Given the description of an element on the screen output the (x, y) to click on. 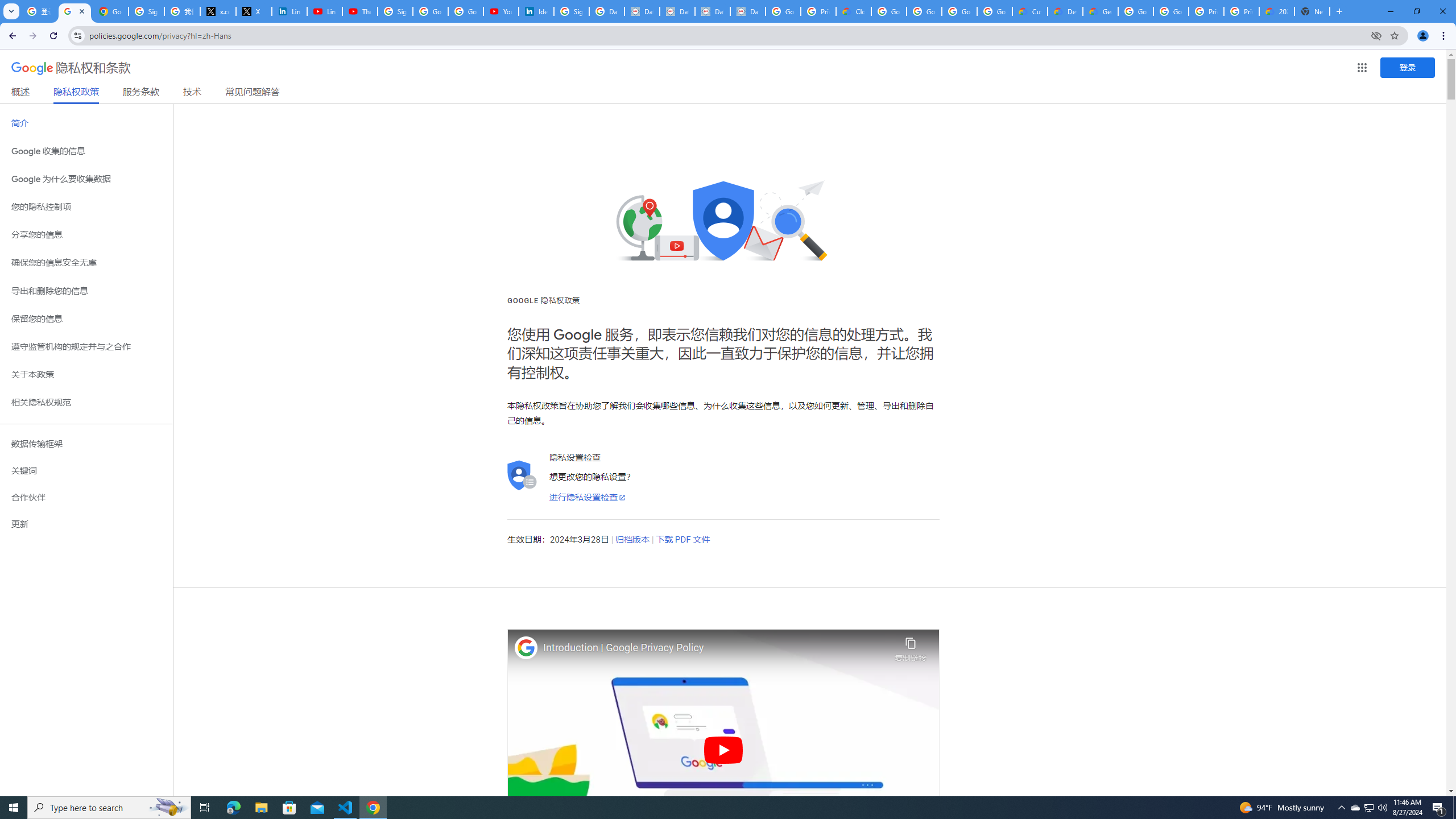
Sign in - Google Accounts (571, 11)
Data Privacy Framework (747, 11)
